Given the description of an element on the screen output the (x, y) to click on. 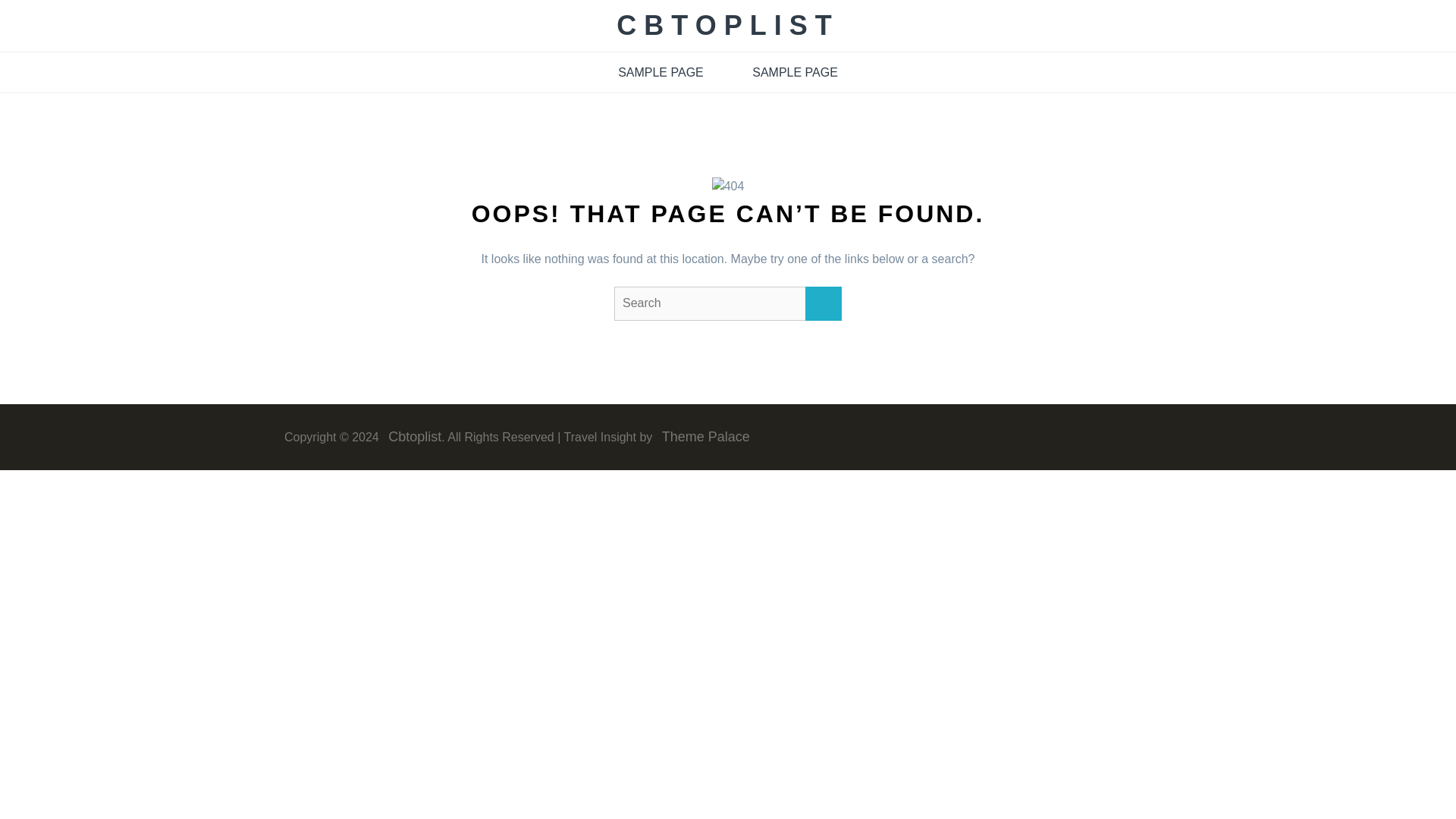
Cbtoplist (411, 436)
SAMPLE PAGE (794, 72)
SAMPLE PAGE (660, 72)
CBTOPLIST (726, 24)
Theme Palace (702, 436)
Search (823, 303)
